Given the description of an element on the screen output the (x, y) to click on. 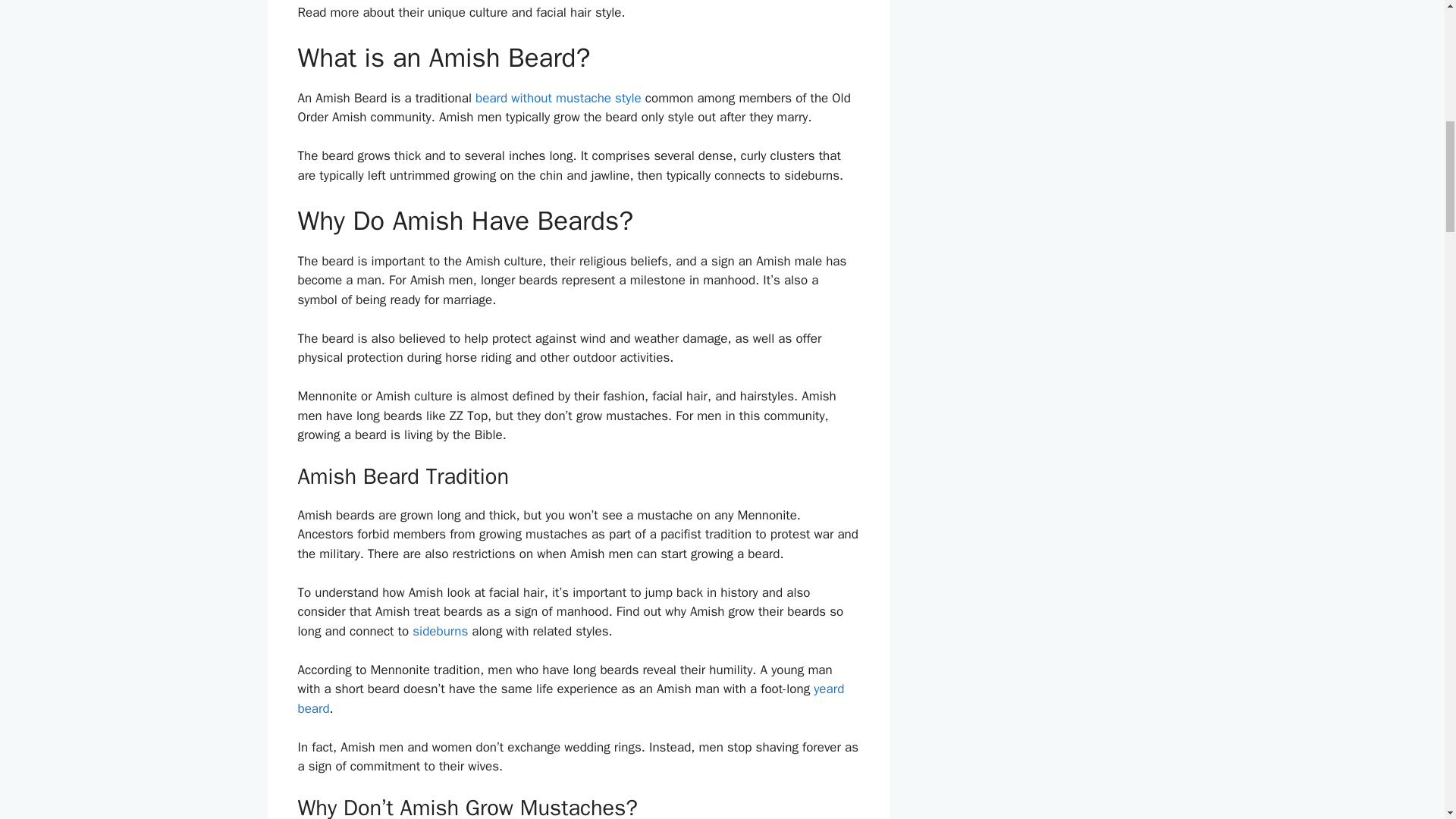
sideburns (439, 631)
yeard beard (570, 698)
beard without mustache style (559, 98)
